Given the description of an element on the screen output the (x, y) to click on. 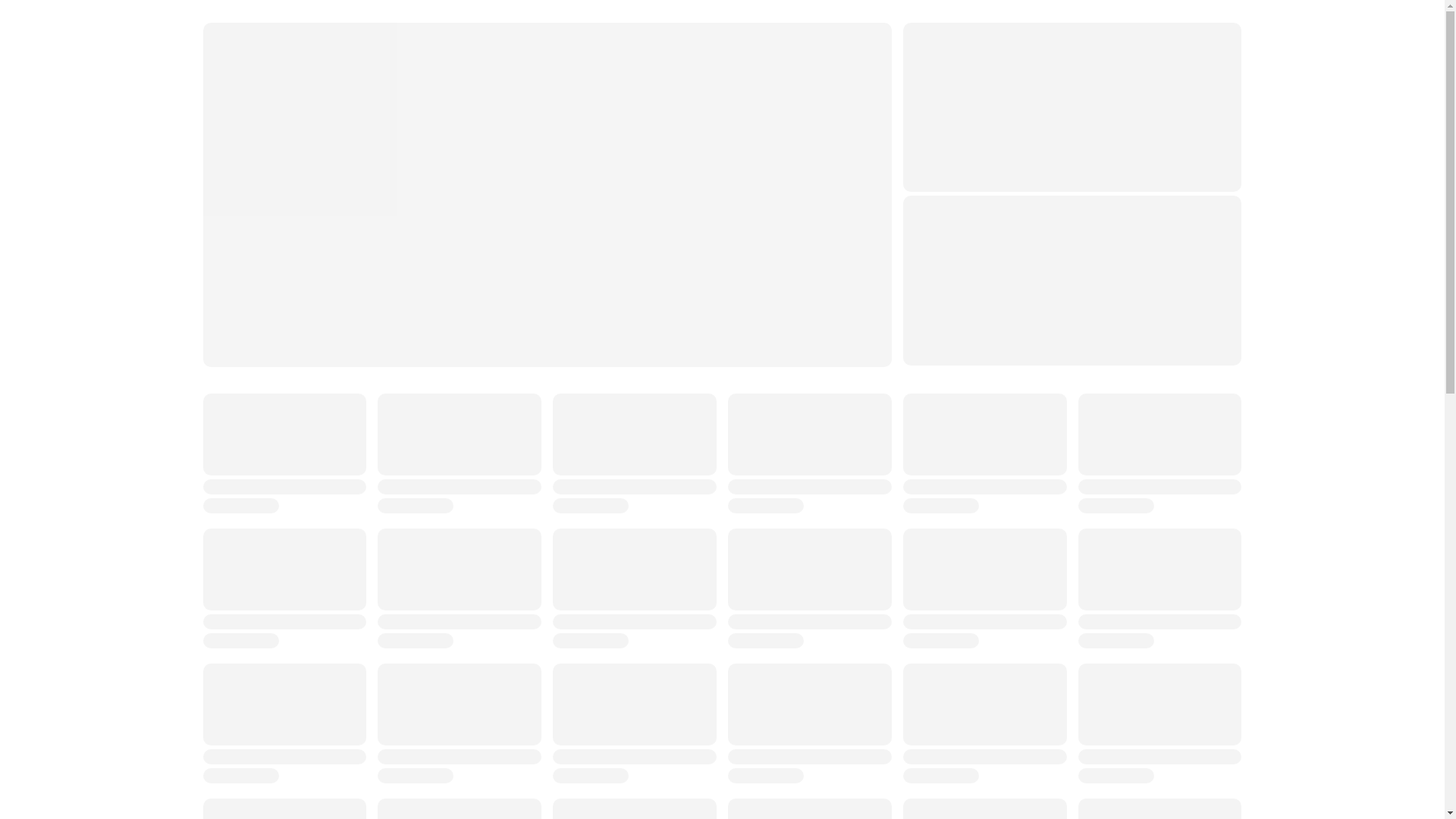
Seller Center (1036, 70)
Order Tracking (492, 70)
Login or Sign up (625, 70)
Products (743, 70)
Sign in (1045, 29)
Help Center (847, 70)
Blog (941, 70)
Home (388, 70)
